Given the description of an element on the screen output the (x, y) to click on. 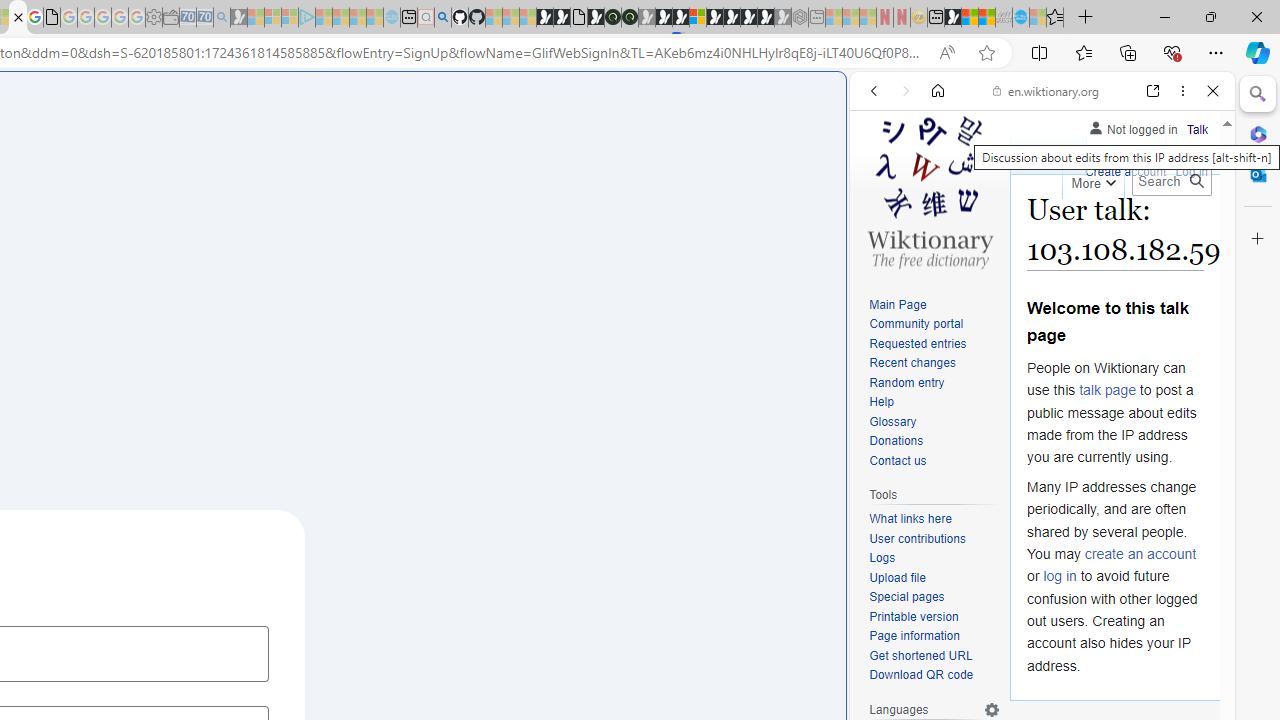
Requested entries (917, 343)
Create account (1125, 172)
Download QR code (921, 675)
